Given the description of an element on the screen output the (x, y) to click on. 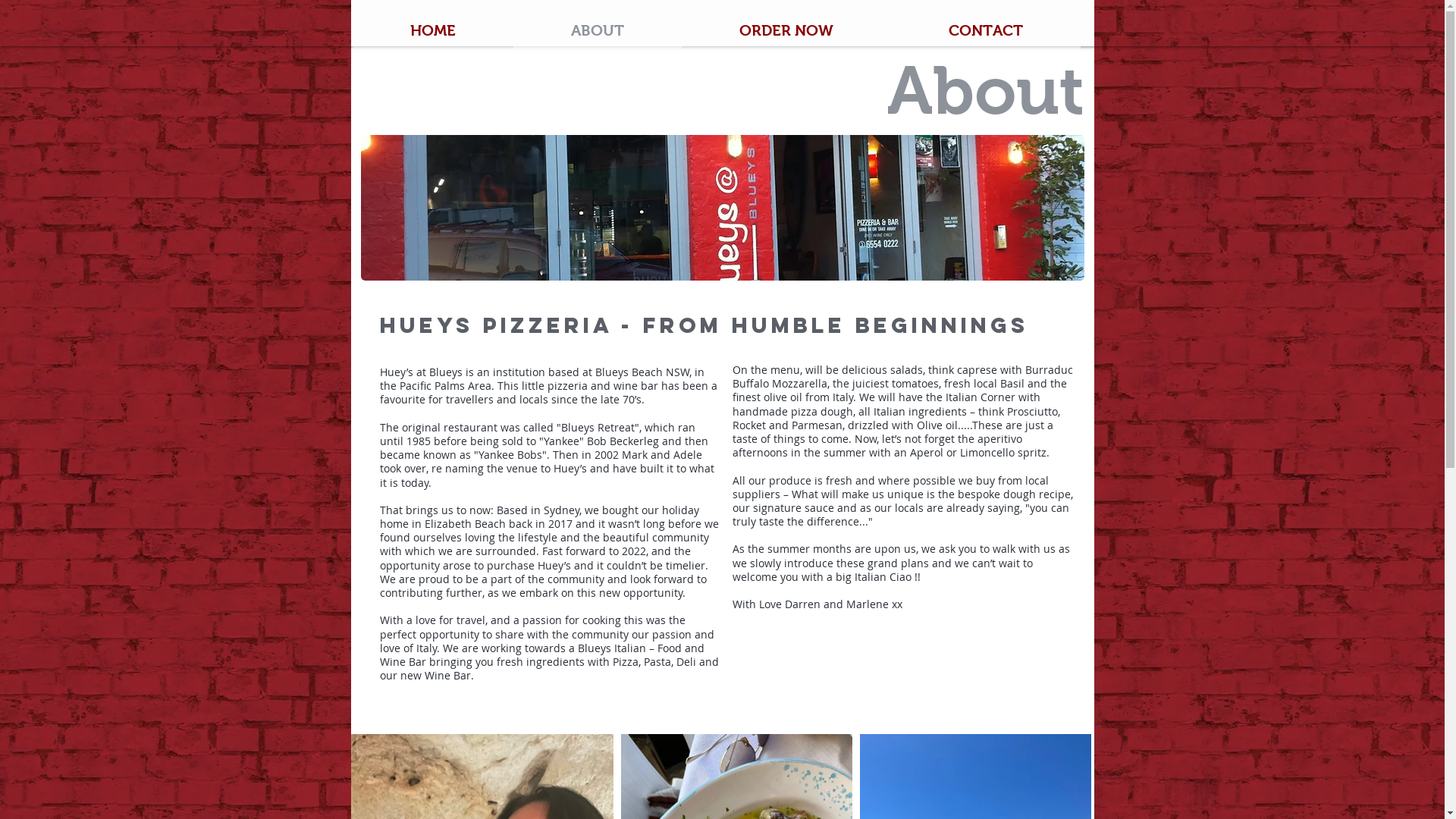
IMG_1256.jpg Element type: hover (722, 207)
ABOUT Element type: text (596, 30)
CONTACT Element type: text (984, 30)
HOME Element type: text (431, 30)
ORDER NOW Element type: text (785, 30)
